Given the description of an element on the screen output the (x, y) to click on. 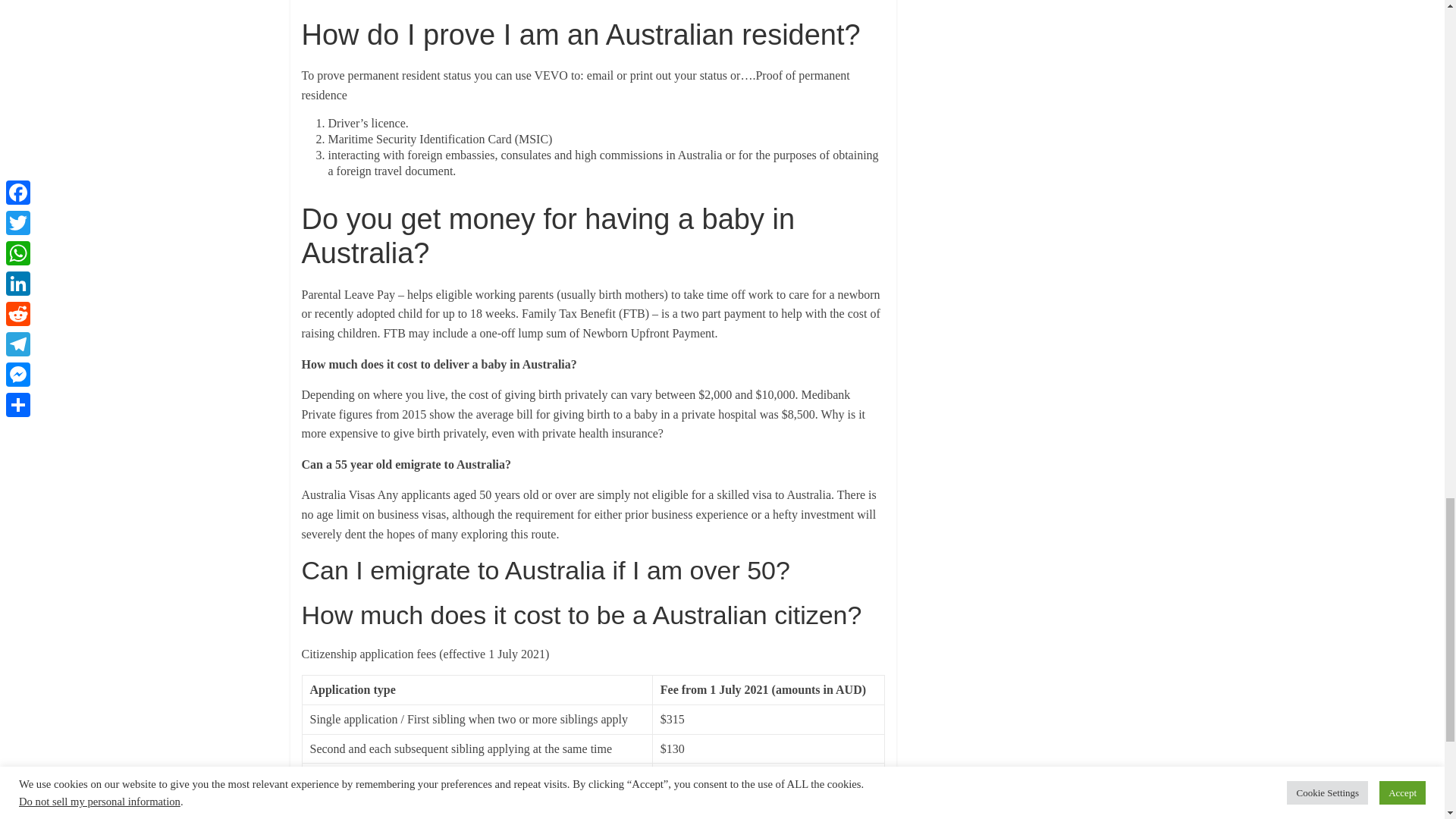
Telegram (467, 815)
WhatsApp (377, 815)
LinkedIn (408, 815)
Reddit (437, 815)
LinkedIn (408, 815)
Facebook (316, 815)
Facebook (316, 815)
Telegram (467, 815)
Reddit (437, 815)
Messenger (498, 815)
Share (528, 815)
Twitter (346, 815)
Messenger (498, 815)
Twitter (346, 815)
WhatsApp (377, 815)
